Given the description of an element on the screen output the (x, y) to click on. 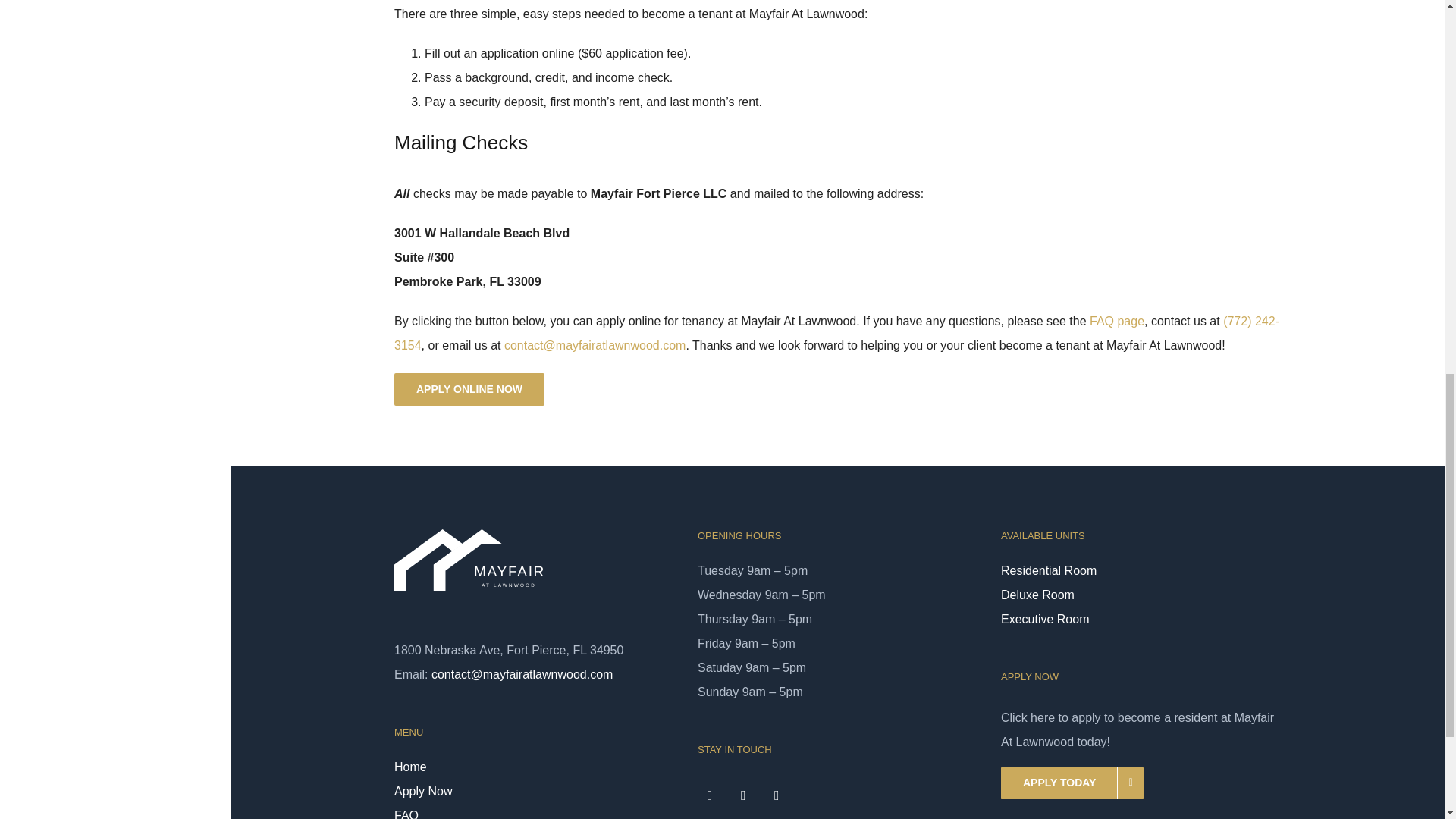
Deluxe Room (1141, 595)
Executive Room (1141, 619)
Instagram (776, 795)
Residential Room (1141, 570)
Home (534, 767)
APPLY TODAY (1072, 782)
APPLY ONLINE NOW (469, 389)
FAQ page (1116, 320)
Twitter (742, 795)
FAQ (534, 811)
Apply Now (534, 791)
Facebook (709, 795)
